Given the description of an element on the screen output the (x, y) to click on. 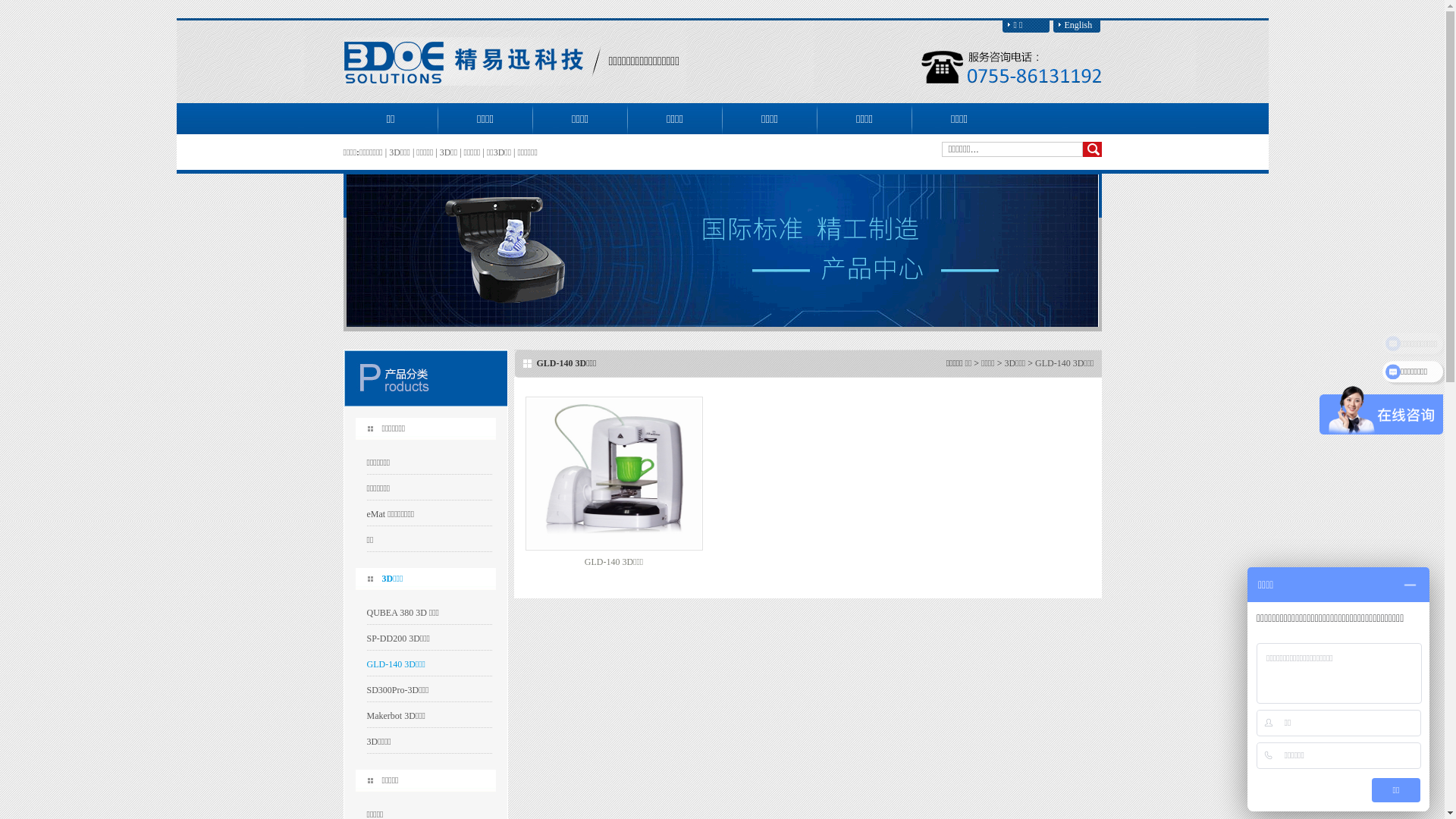
English Element type: text (1075, 25)
